Given the description of an element on the screen output the (x, y) to click on. 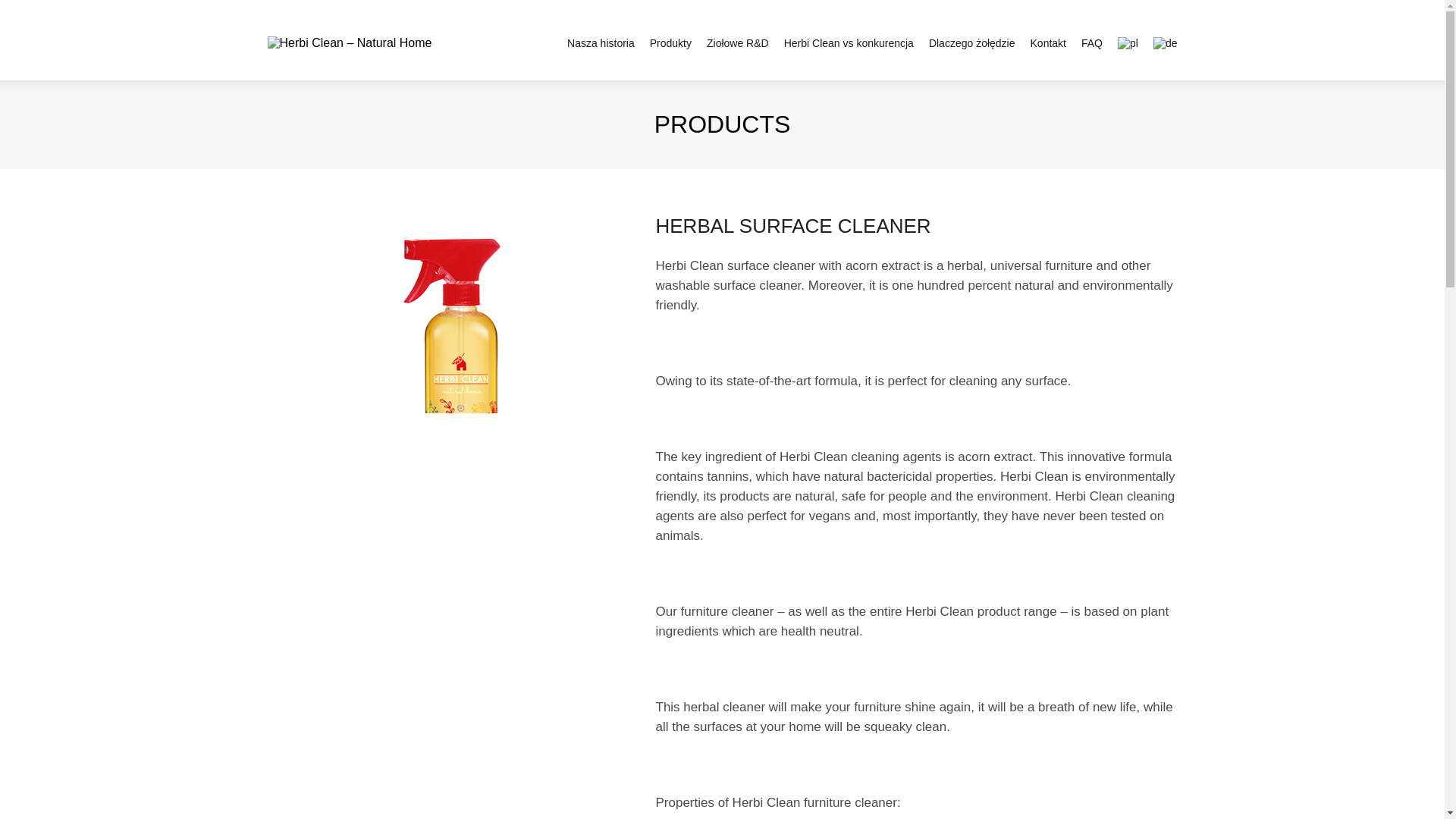
Nasza historia (600, 42)
Produkty (670, 42)
polski (1128, 42)
FAQ (1091, 42)
Kontakt (1047, 42)
Deutsch (1165, 42)
Herbi Clean vs konkurencja (849, 42)
